Given the description of an element on the screen output the (x, y) to click on. 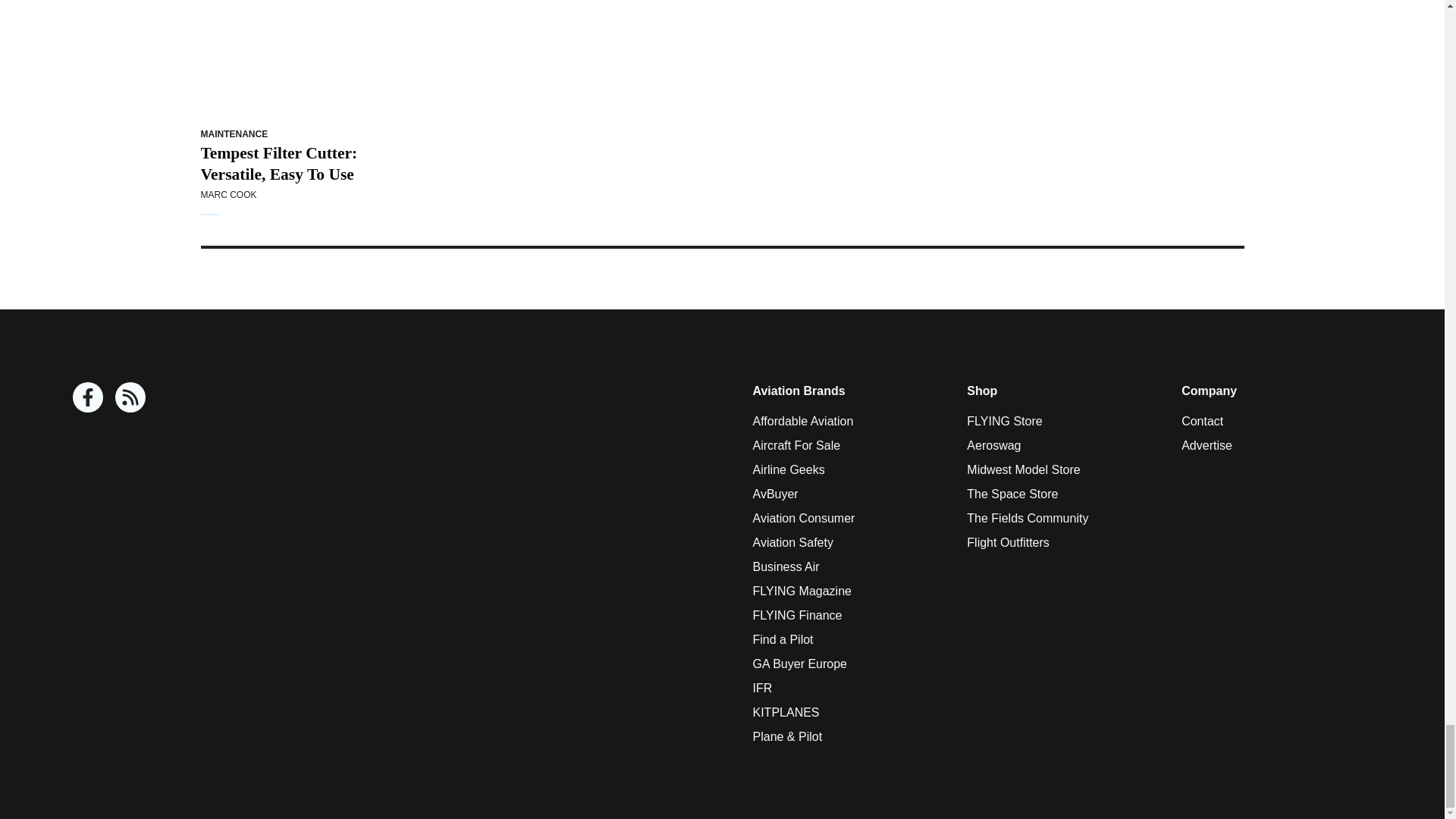
Tempest Filter Cutter: Versatile, Easy To Use (297, 58)
Rss (130, 397)
Facebook (87, 397)
